Given the description of an element on the screen output the (x, y) to click on. 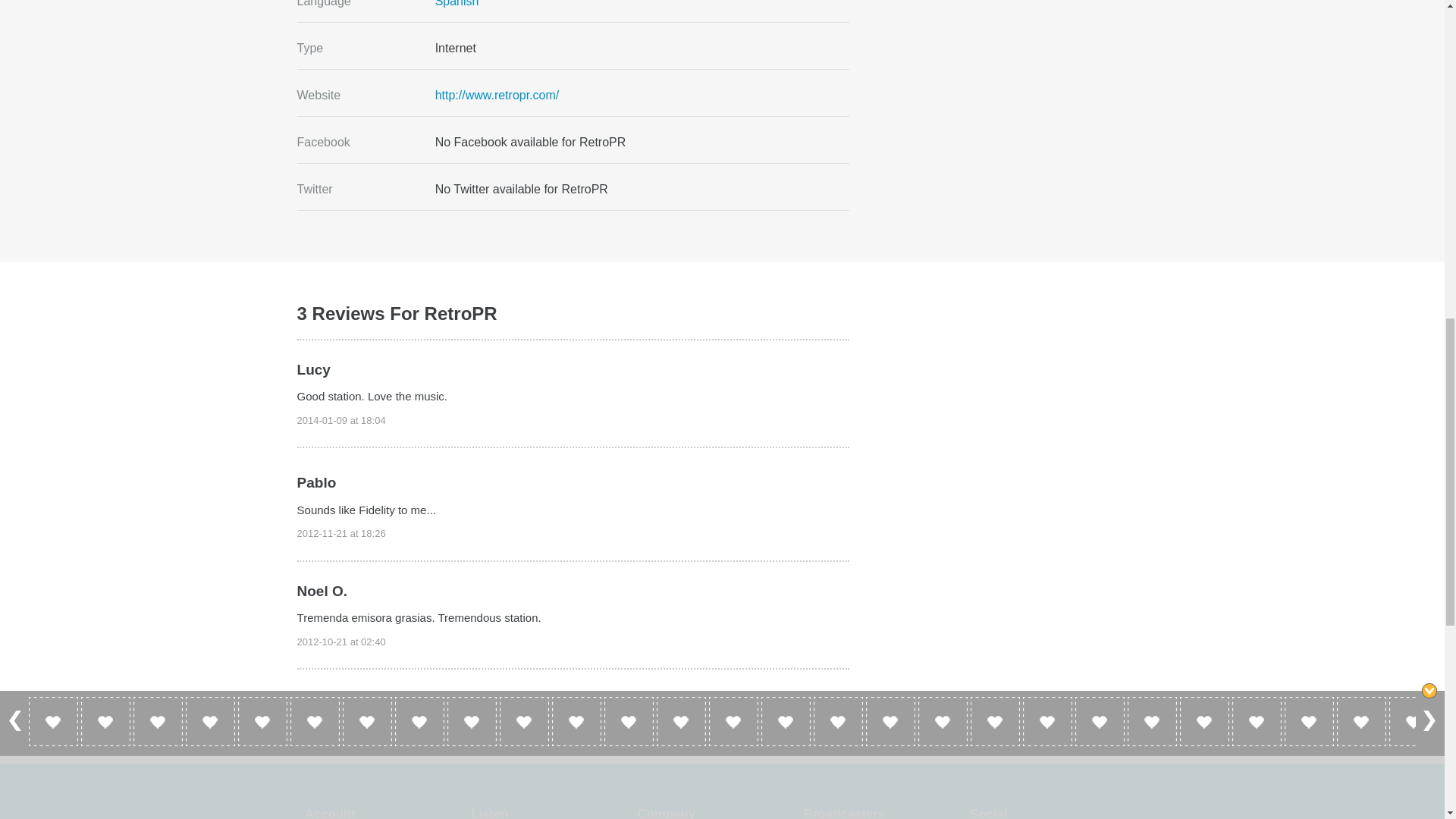
log in (351, 702)
Advertisement (1019, 25)
Spanish (457, 3)
create a free account (525, 702)
